Given the description of an element on the screen output the (x, y) to click on. 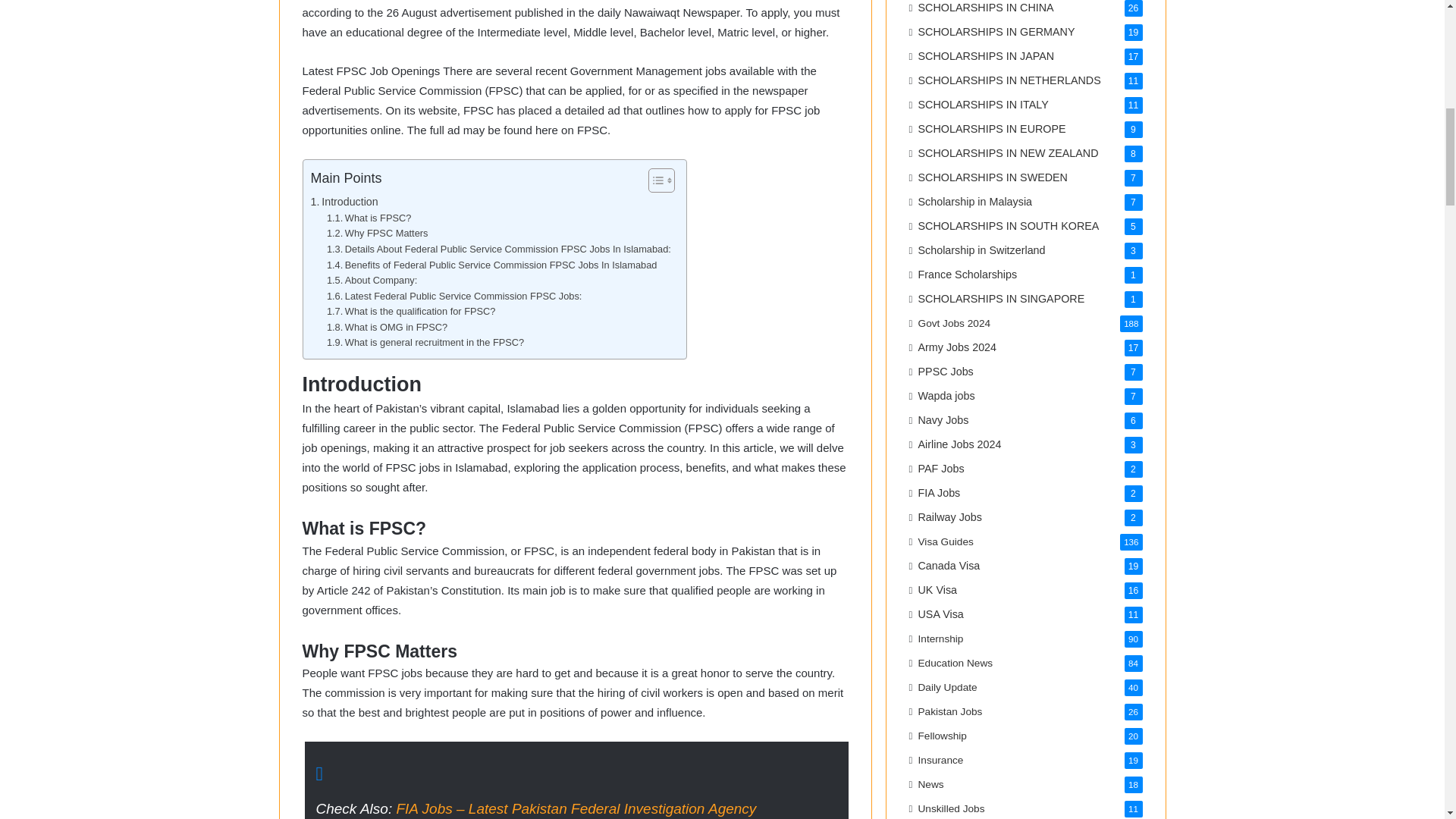
What is FPSC? (369, 218)
What is the qualification for FPSC? (411, 311)
What is OMG in FPSC? (386, 327)
Latest Federal Public Service Commission FPSC Jobs: (454, 296)
About Company: (371, 280)
Introduction (344, 201)
What is general recruitment in the FPSC? (425, 342)
Why FPSC Matters (377, 233)
